Given the description of an element on the screen output the (x, y) to click on. 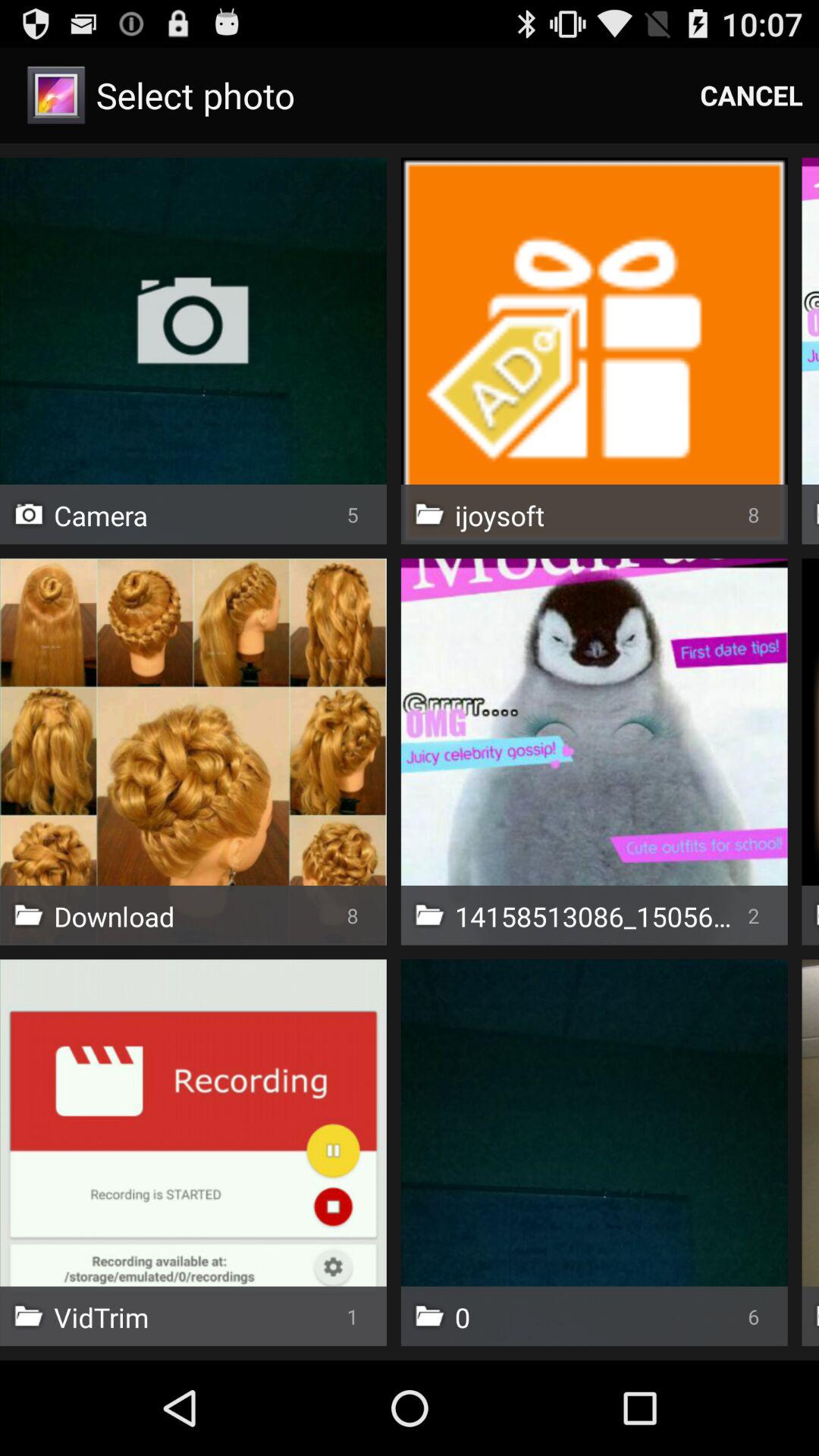
scroll to the cancel item (751, 95)
